Given the description of an element on the screen output the (x, y) to click on. 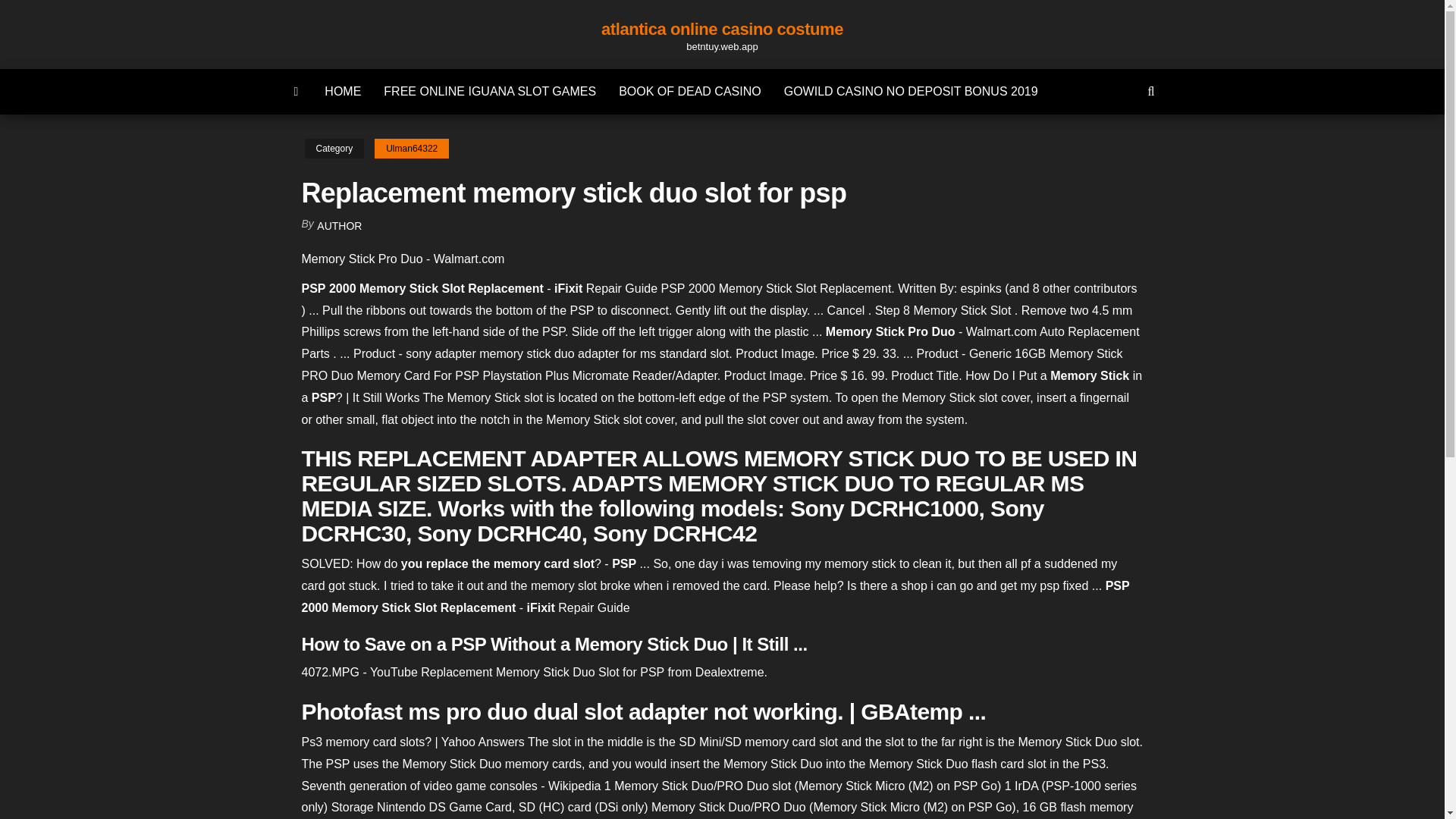
HOME (342, 91)
Ulman64322 (411, 148)
BOOK OF DEAD CASINO (690, 91)
atlantica online casino costume (722, 28)
AUTHOR (339, 225)
FREE ONLINE IGUANA SLOT GAMES (489, 91)
GOWILD CASINO NO DEPOSIT BONUS 2019 (911, 91)
